Given the description of an element on the screen output the (x, y) to click on. 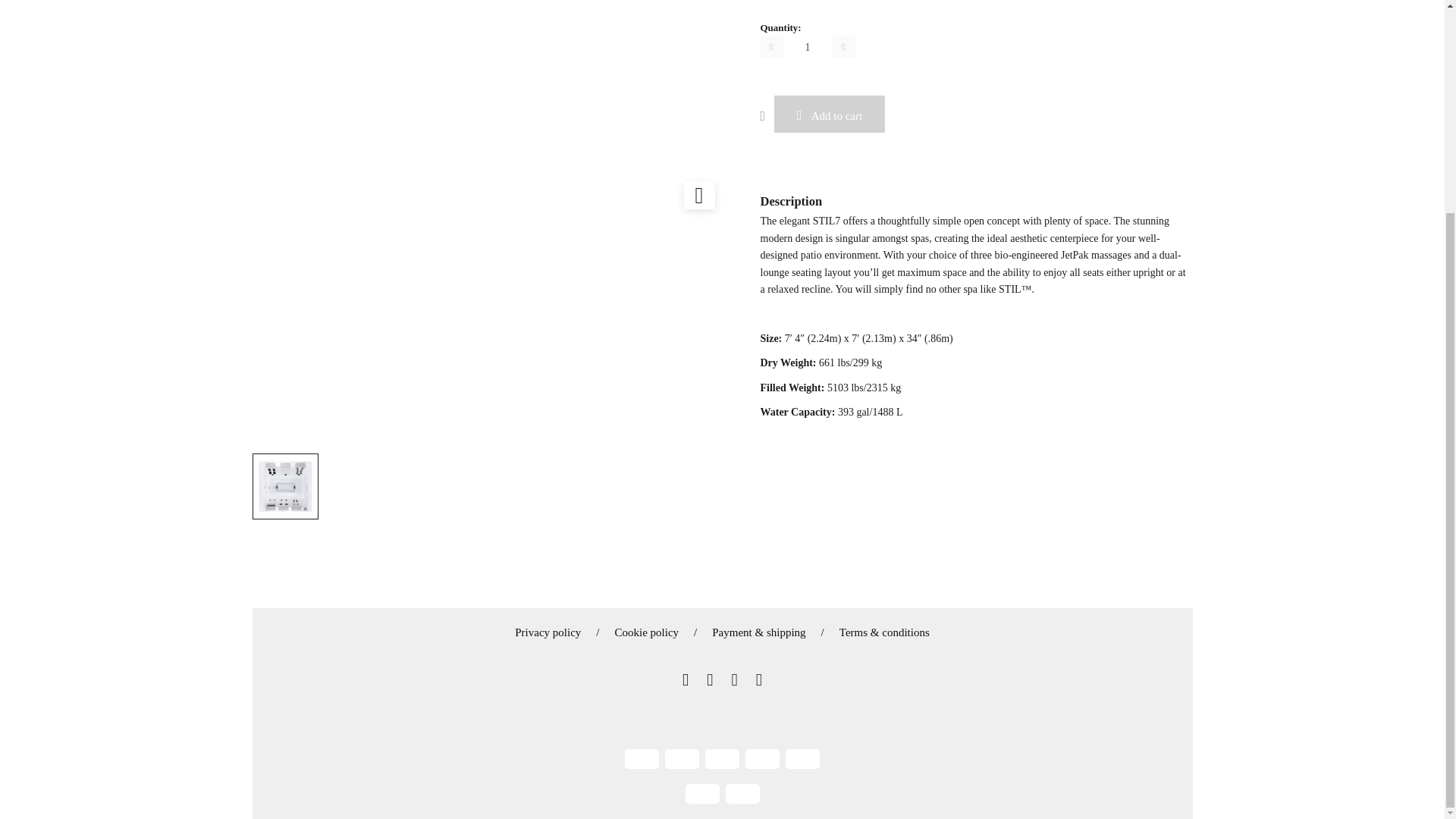
Add to wish list (767, 115)
Add to cart (829, 113)
1 (807, 46)
